Given the description of an element on the screen output the (x, y) to click on. 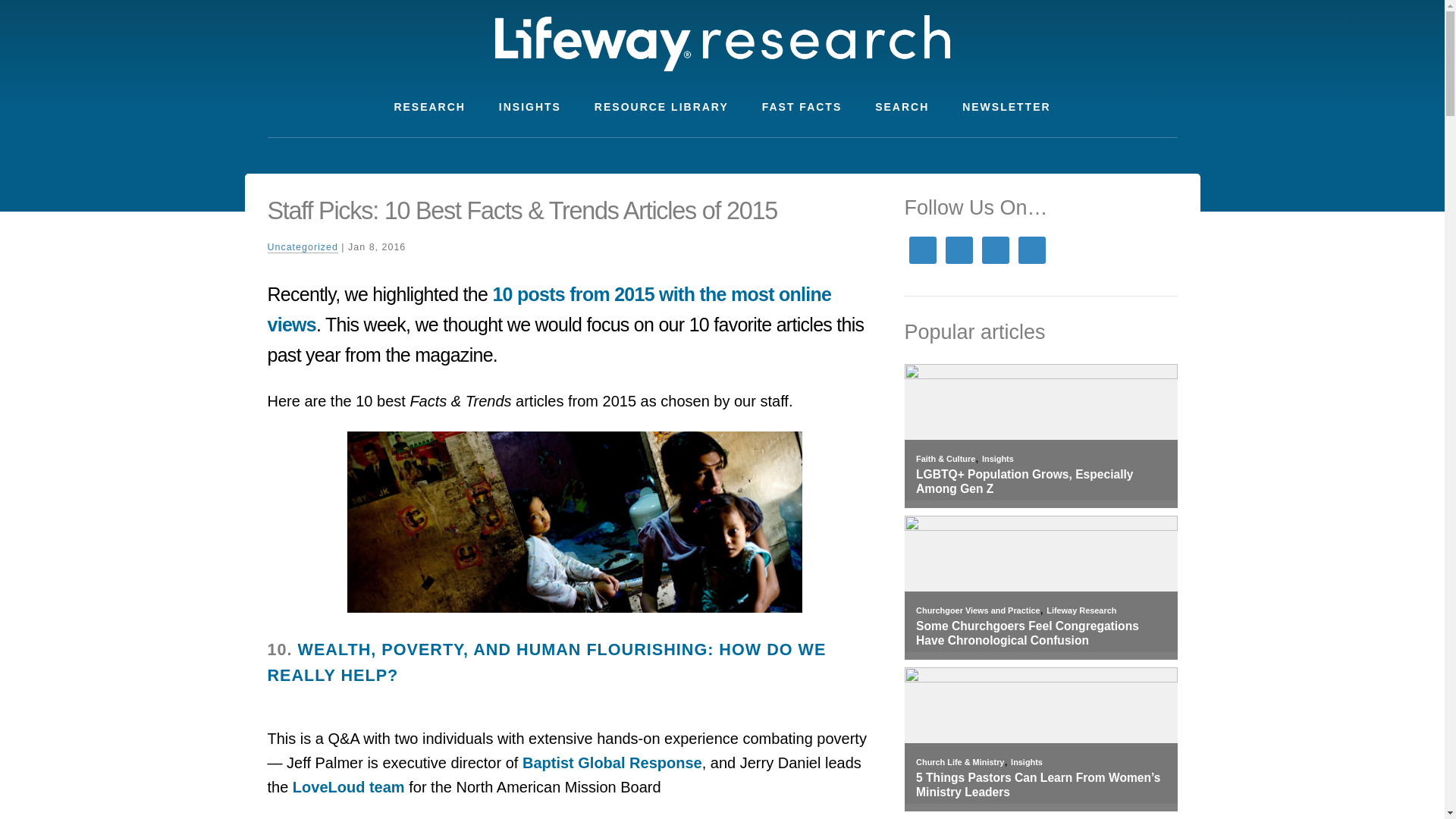
Uncategorized (301, 247)
10 posts from 2015 with the most online views (548, 308)
FAST FACTS (801, 106)
Baptist Global Response (611, 762)
SEARCH (901, 106)
RESOURCE LIBRARY (661, 106)
INSIGHTS (529, 106)
RESEARCH (429, 106)
LoveLoud team (348, 786)
NEWSLETTER (1006, 106)
